Given the description of an element on the screen output the (x, y) to click on. 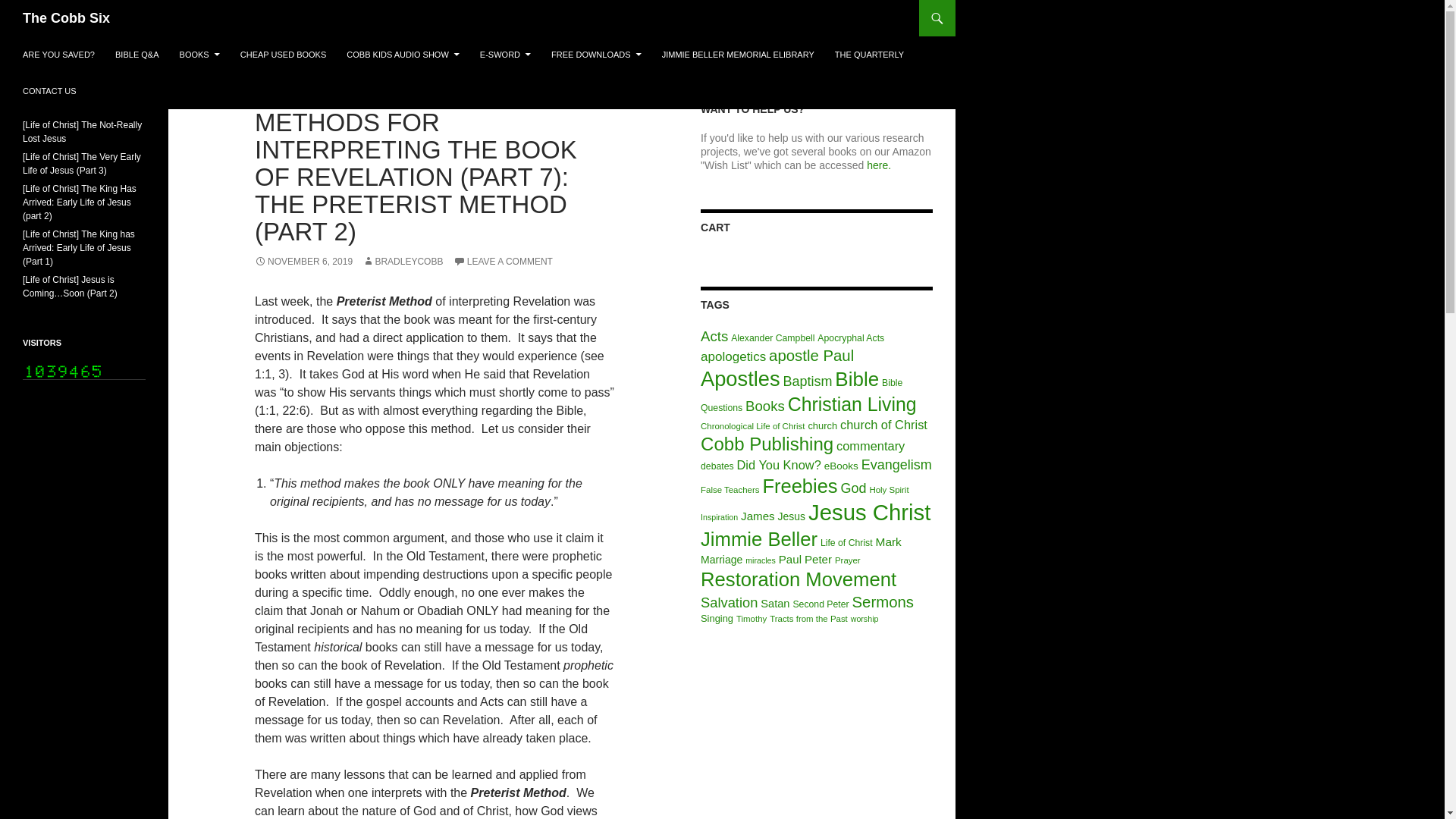
The Cobb Six (66, 18)
COBB KIDS AUDIO SHOW (402, 54)
BOOKS (199, 54)
ARE YOU SAVED? (58, 54)
CHEAP USED BOOKS (283, 54)
